Given the description of an element on the screen output the (x, y) to click on. 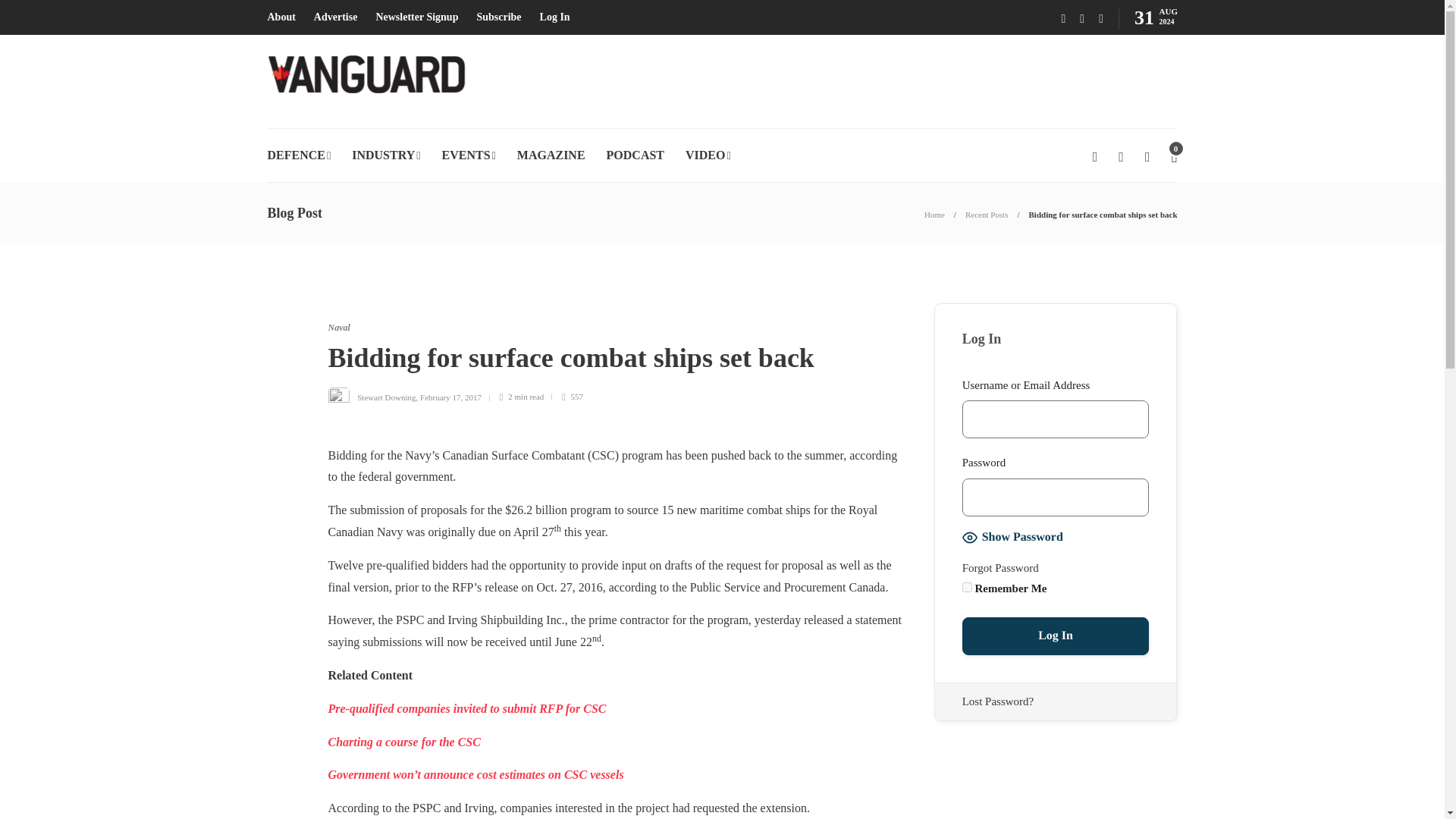
Newsletter Signup (416, 17)
Bidding for surface combat ships set back (1103, 214)
Log In (555, 17)
forever (967, 587)
About (280, 17)
Subscribe (498, 17)
Home (934, 214)
Log In (1056, 636)
Advertise (336, 17)
DEFENCE (298, 154)
